Given the description of an element on the screen output the (x, y) to click on. 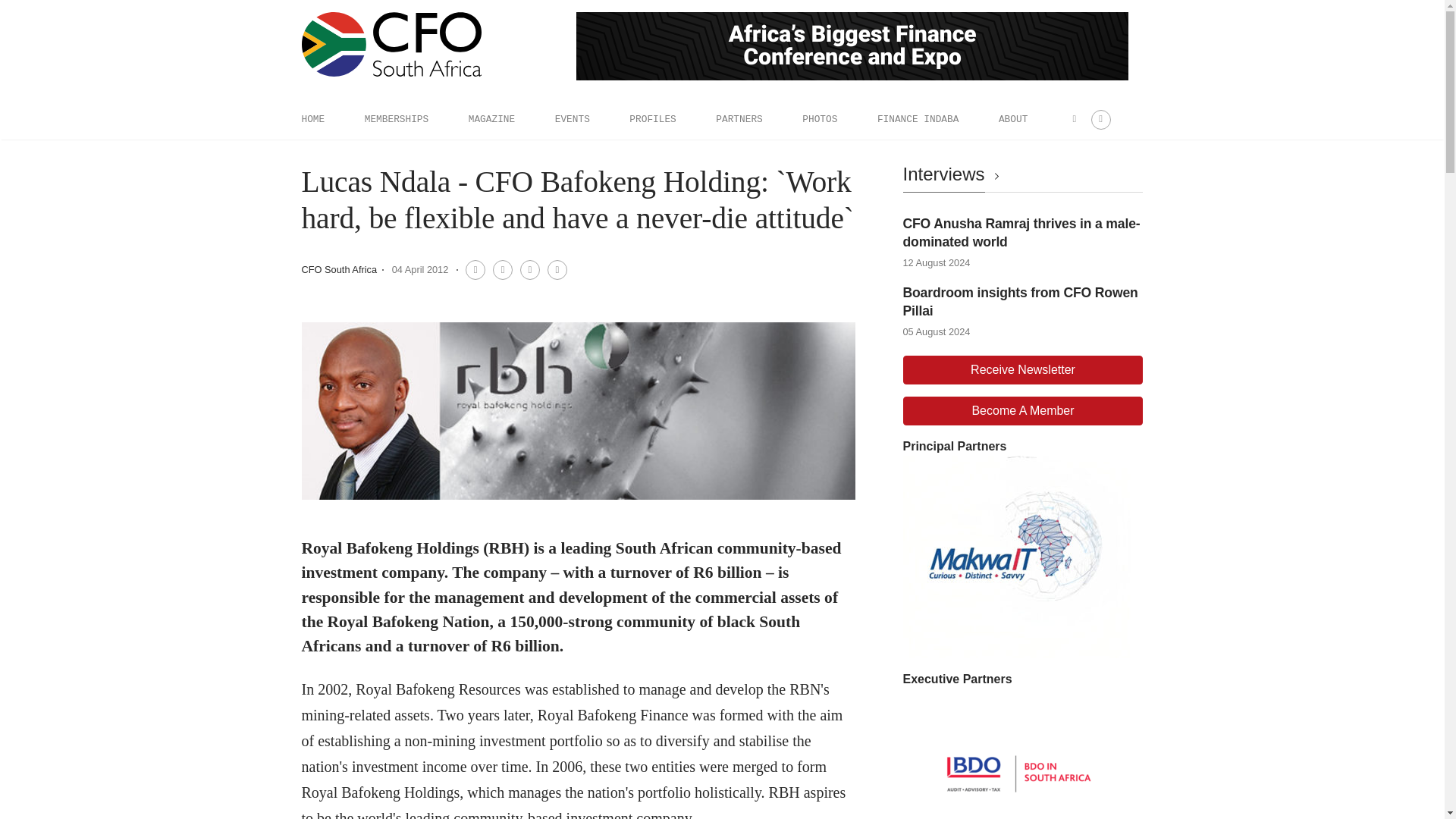
FINANCE INDABA (918, 119)
MAGAZINE (491, 119)
Receive Newsletter (1022, 369)
PHOTOS (819, 119)
ABOUT (1012, 119)
HOME (312, 119)
PARTNERS (738, 119)
CFO South Africa (339, 269)
Become A Member (1022, 410)
PROFILES (651, 119)
